Given the description of an element on the screen output the (x, y) to click on. 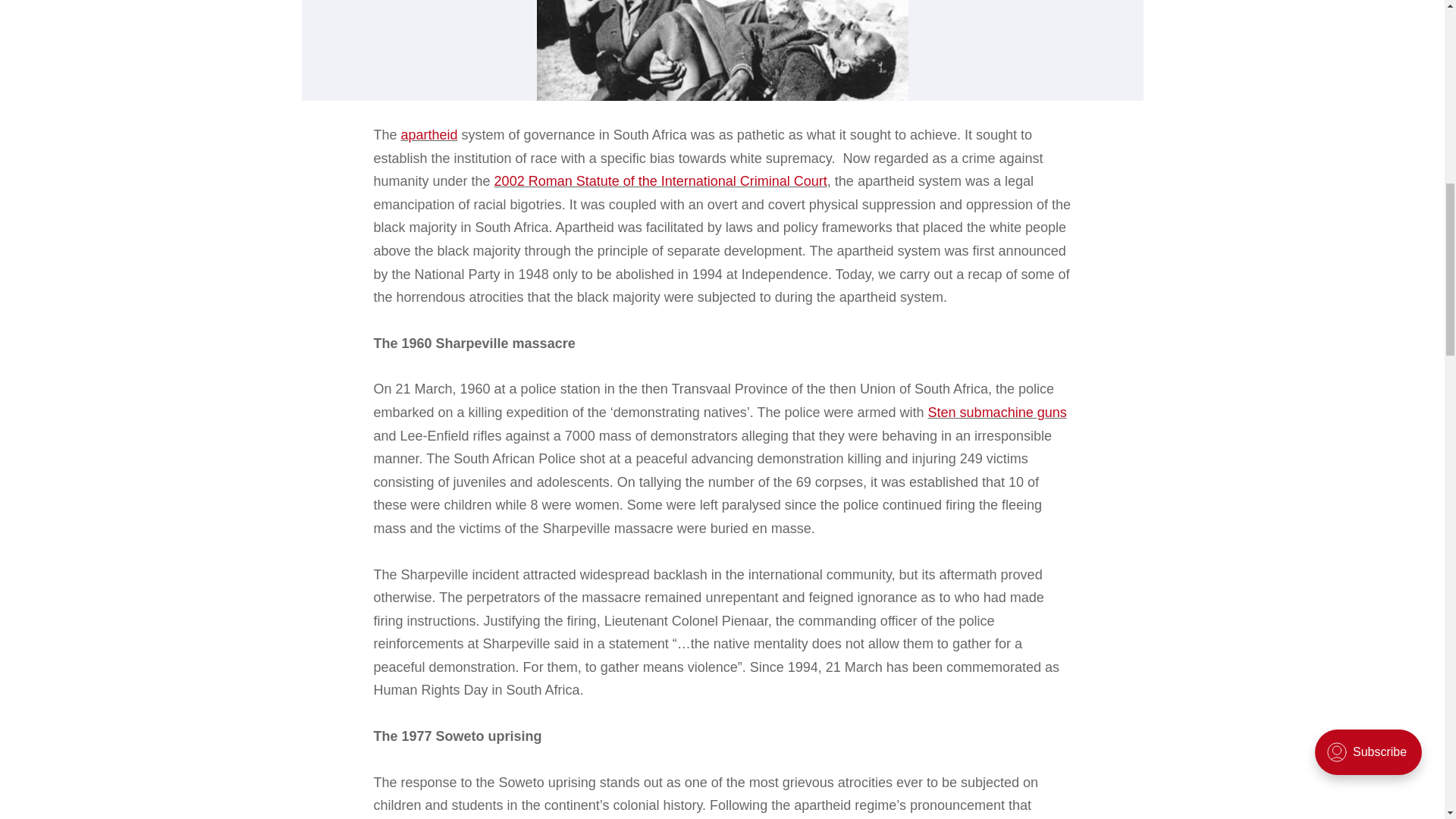
Sten submachine guns (997, 412)
2002 Roman Statute of the International Criminal Court (661, 181)
apartheid (429, 134)
